Given the description of an element on the screen output the (x, y) to click on. 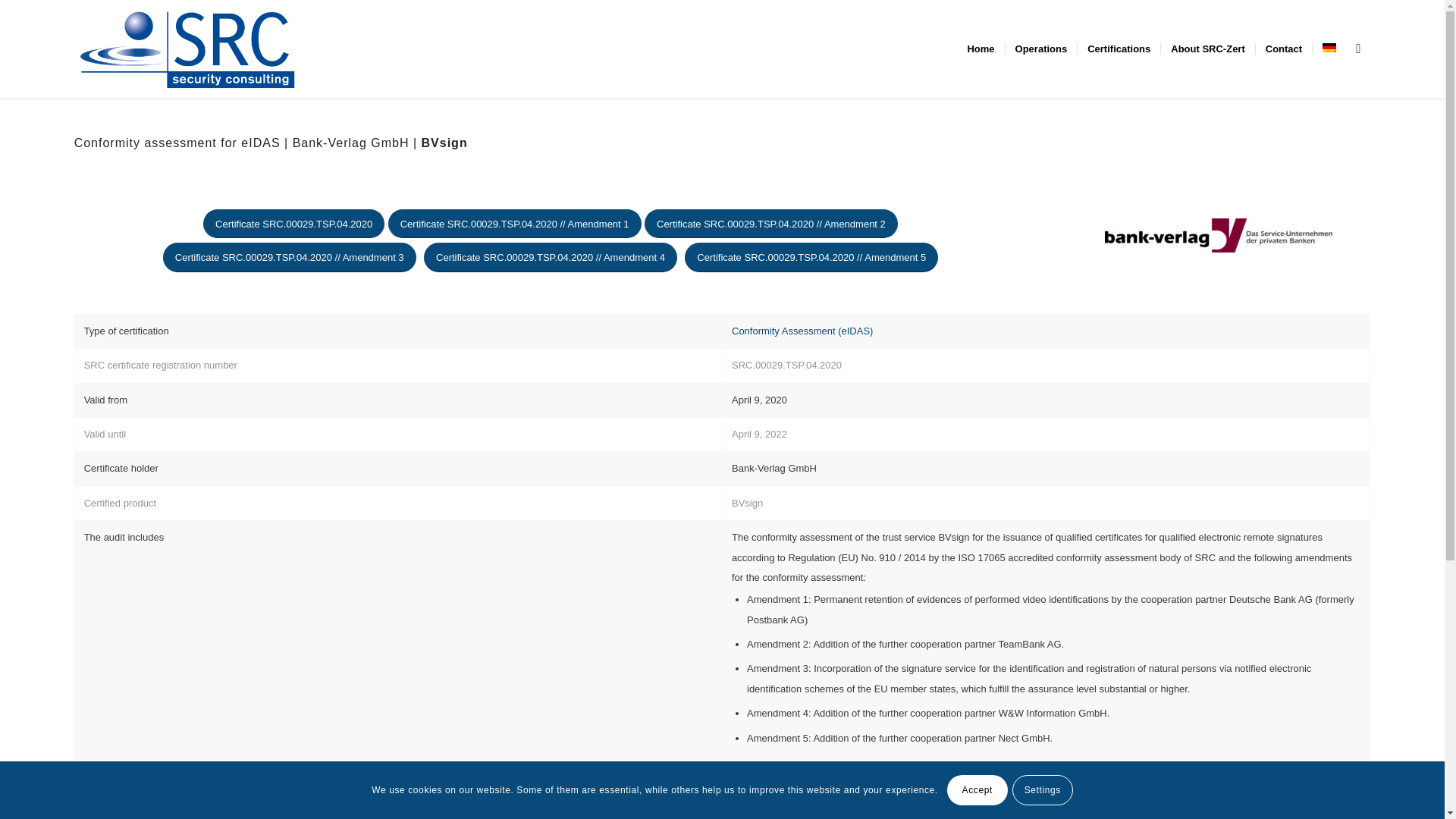
About SRC-Zert (1207, 49)
Settings (1042, 789)
Certificate SRC.00029.TSP.04.2020 (293, 224)
Accept (977, 789)
